Given the description of an element on the screen output the (x, y) to click on. 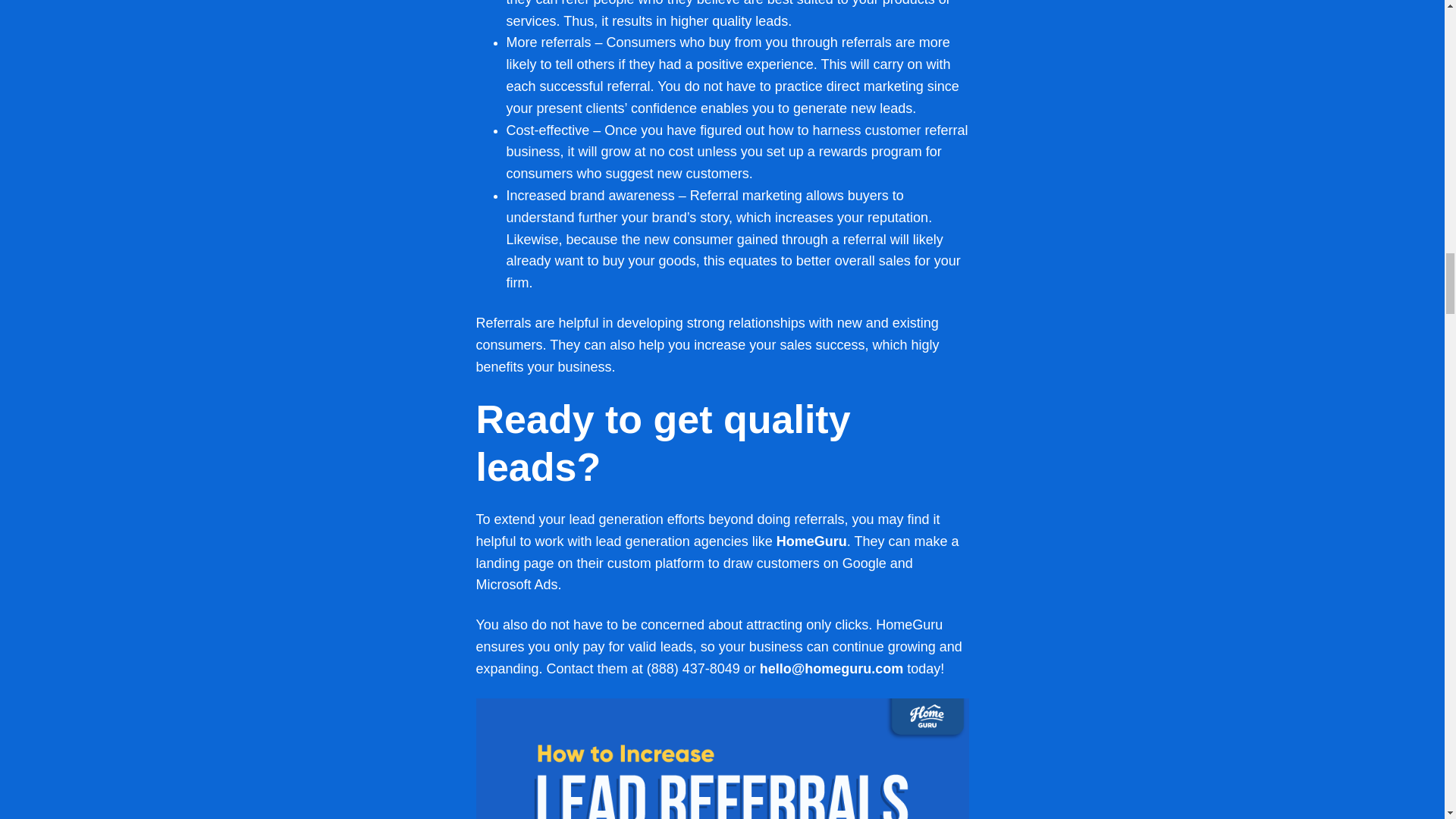
HomeGuru (811, 540)
